Given the description of an element on the screen output the (x, y) to click on. 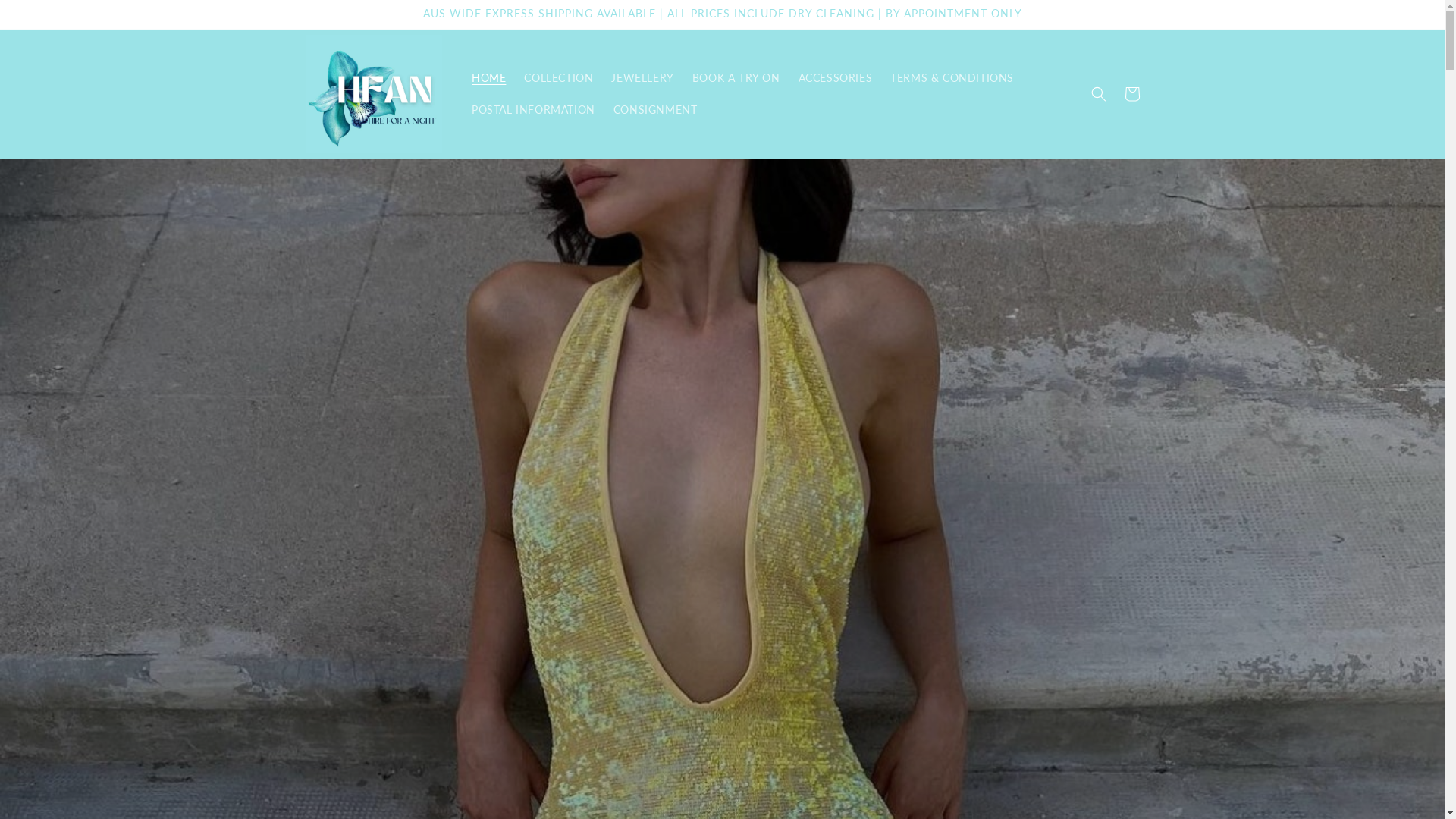
COLLECTION Element type: text (558, 78)
BOOK A TRY ON Element type: text (736, 78)
POSTAL INFORMATION Element type: text (533, 109)
Cart Element type: text (1131, 93)
ACCESSORIES Element type: text (835, 78)
JEWELLERY Element type: text (642, 78)
CONSIGNMENT Element type: text (655, 109)
HOME Element type: text (488, 78)
TERMS & CONDITIONS Element type: text (951, 78)
